Given the description of an element on the screen output the (x, y) to click on. 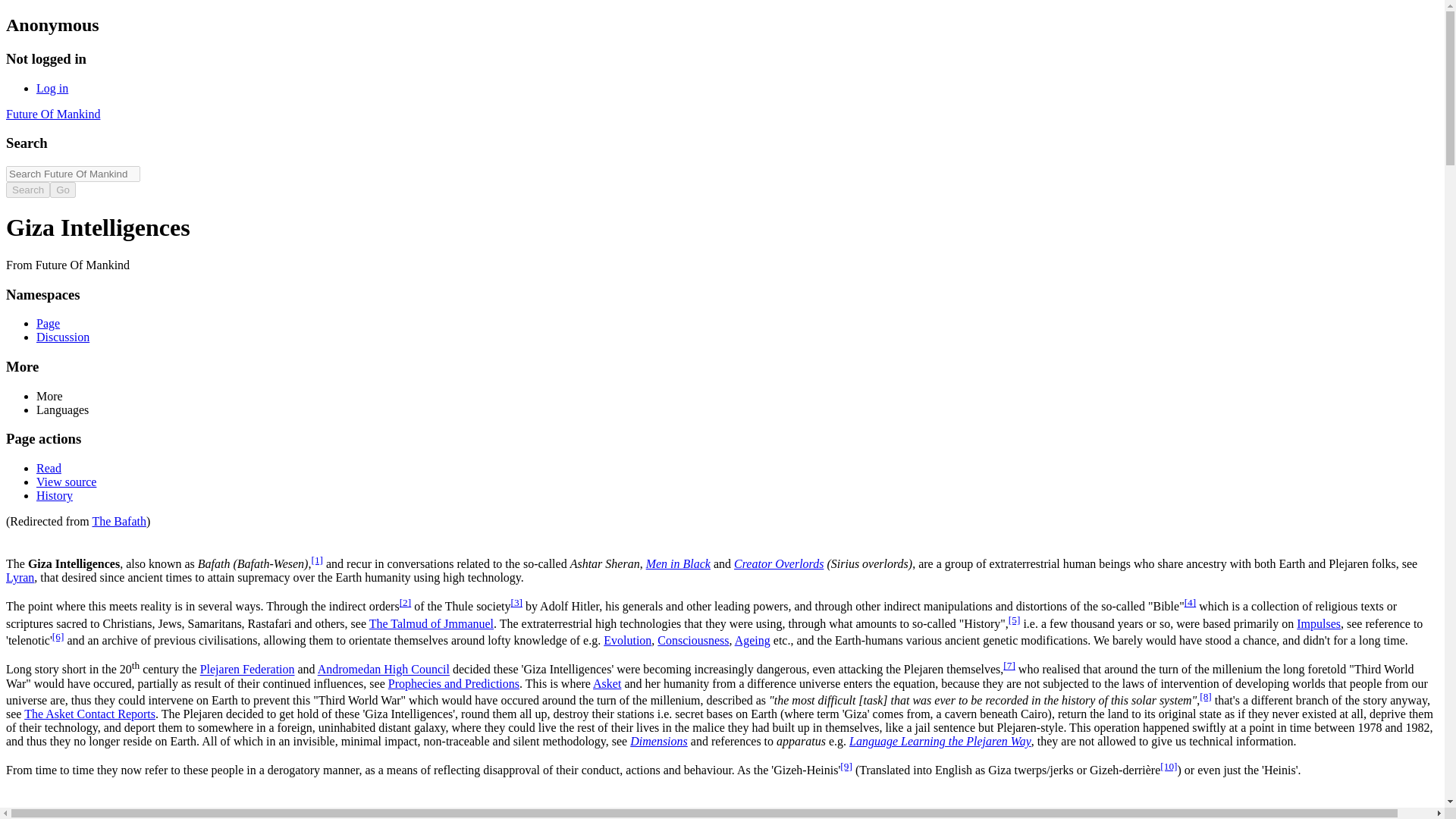
Impulses (1318, 623)
Creator Overlords (778, 563)
Prophecies and Predictions (453, 683)
Go (62, 189)
Go (62, 189)
History (54, 495)
Ageing (752, 640)
Consciousness (693, 640)
Evolution (627, 640)
Plejaren Federation (247, 669)
Future Of Mankind (52, 113)
Asket (606, 683)
Search the pages for this text (27, 189)
Men in Black (678, 563)
Page (47, 323)
